Given the description of an element on the screen output the (x, y) to click on. 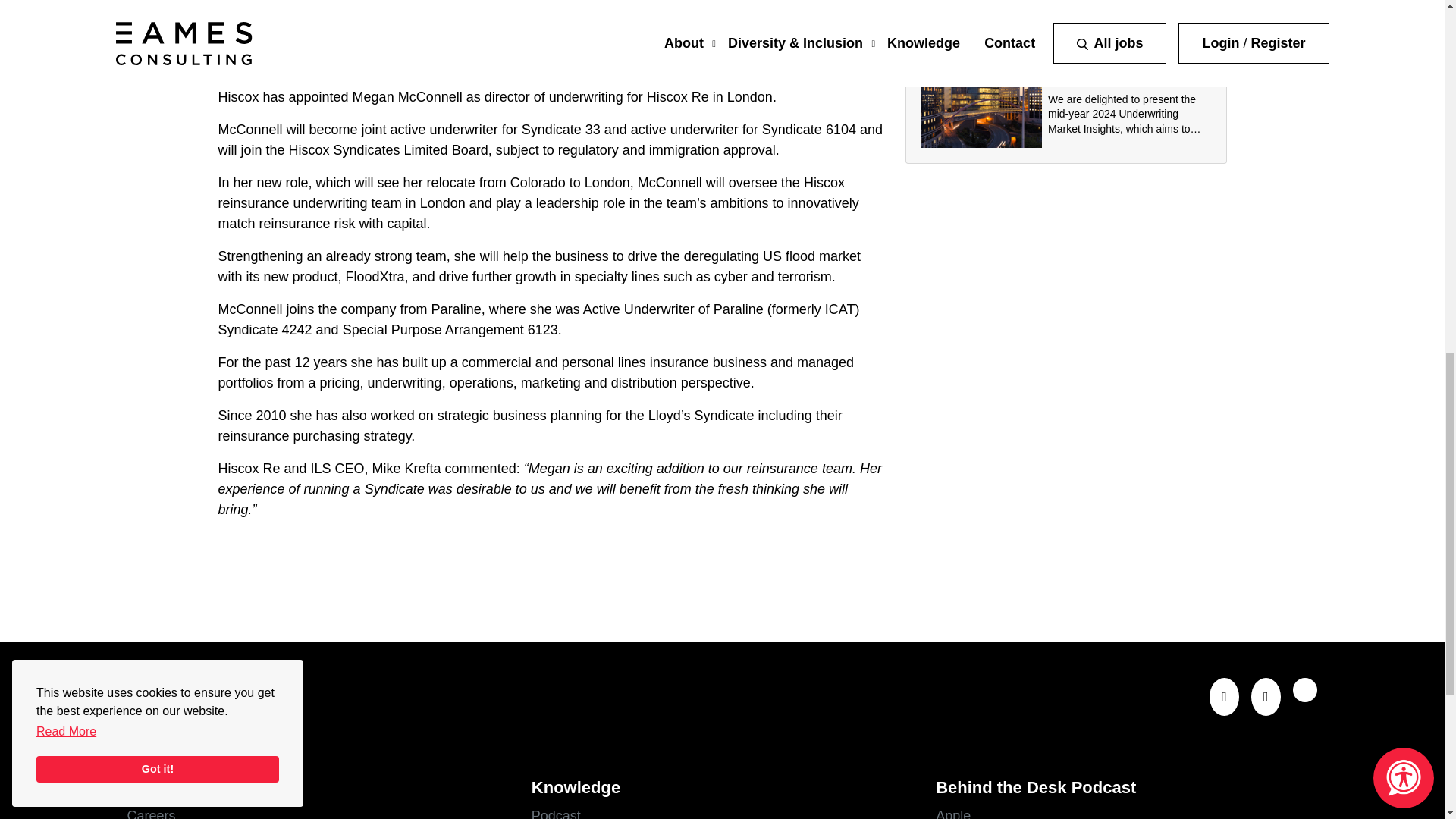
Careers (318, 812)
Podcast (721, 812)
